Given the description of an element on the screen output the (x, y) to click on. 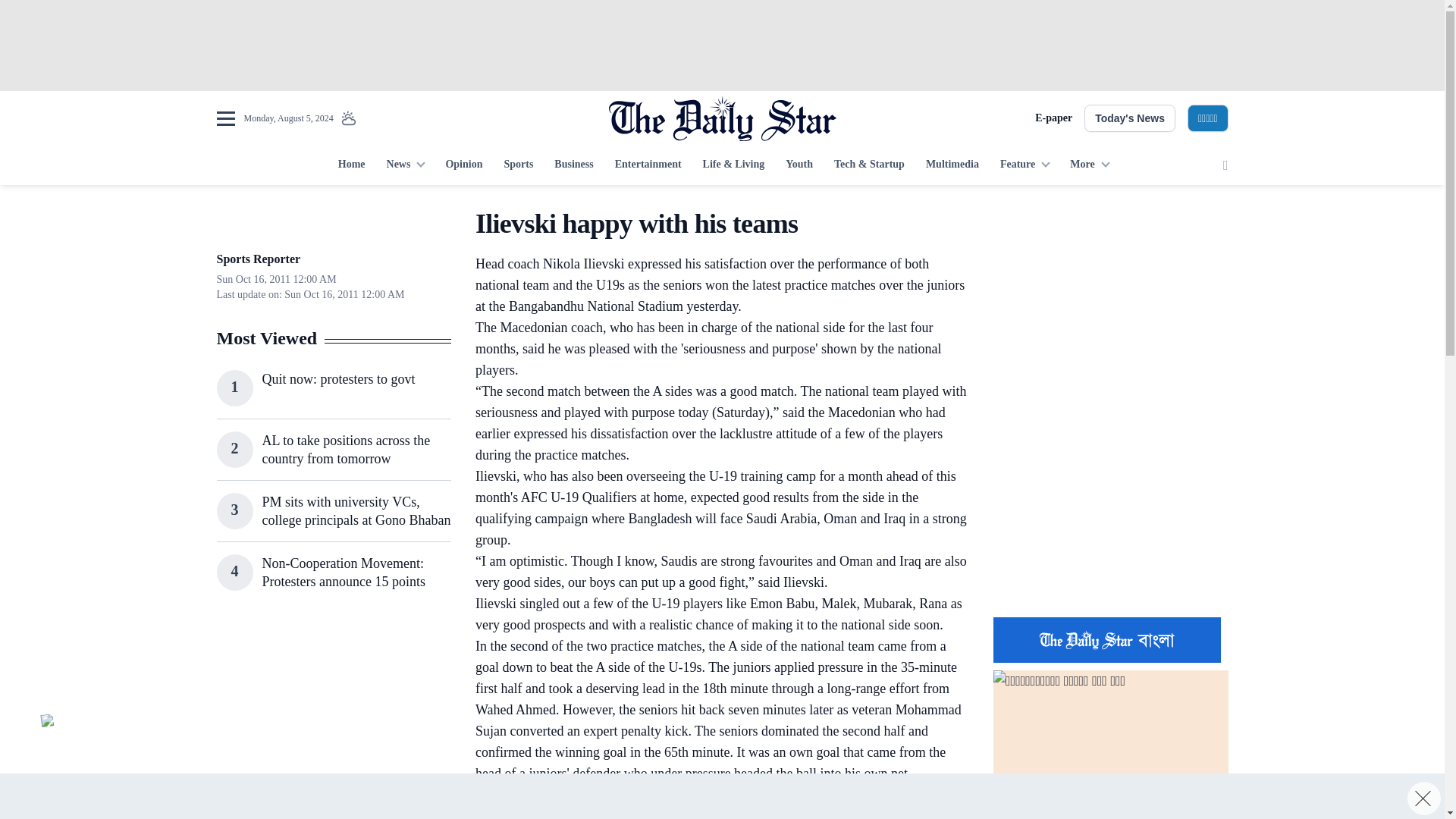
Business (573, 165)
3rd party ad content (721, 796)
Opinion (463, 165)
Youth (799, 165)
News (405, 165)
Home (351, 165)
Entertainment (647, 165)
3rd party ad content (1110, 506)
Multimedia (952, 165)
E-paper (1053, 117)
3rd party ad content (1110, 302)
3rd party ad content (721, 45)
Today's News (1129, 117)
Feature (1024, 165)
